Given the description of an element on the screen output the (x, y) to click on. 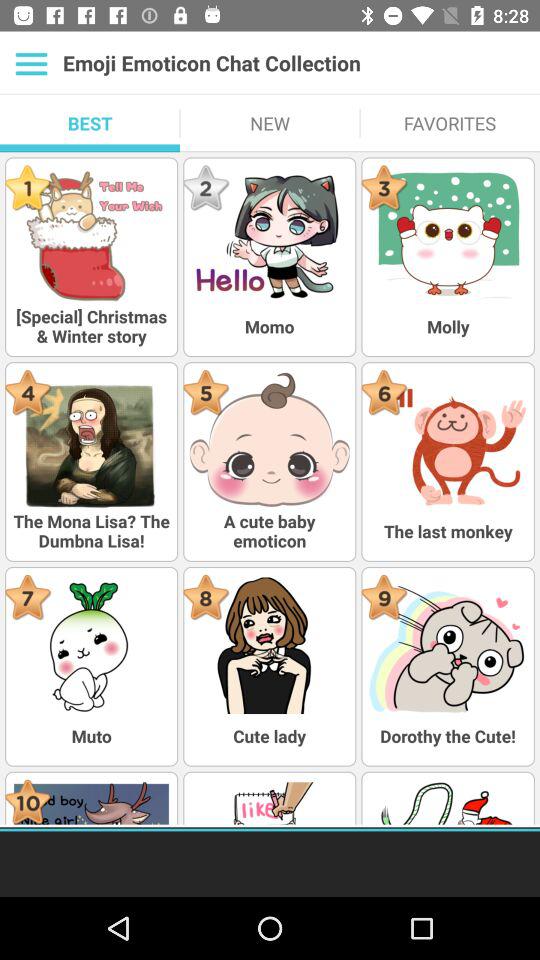
launch app next to the best app (270, 123)
